Given the description of an element on the screen output the (x, y) to click on. 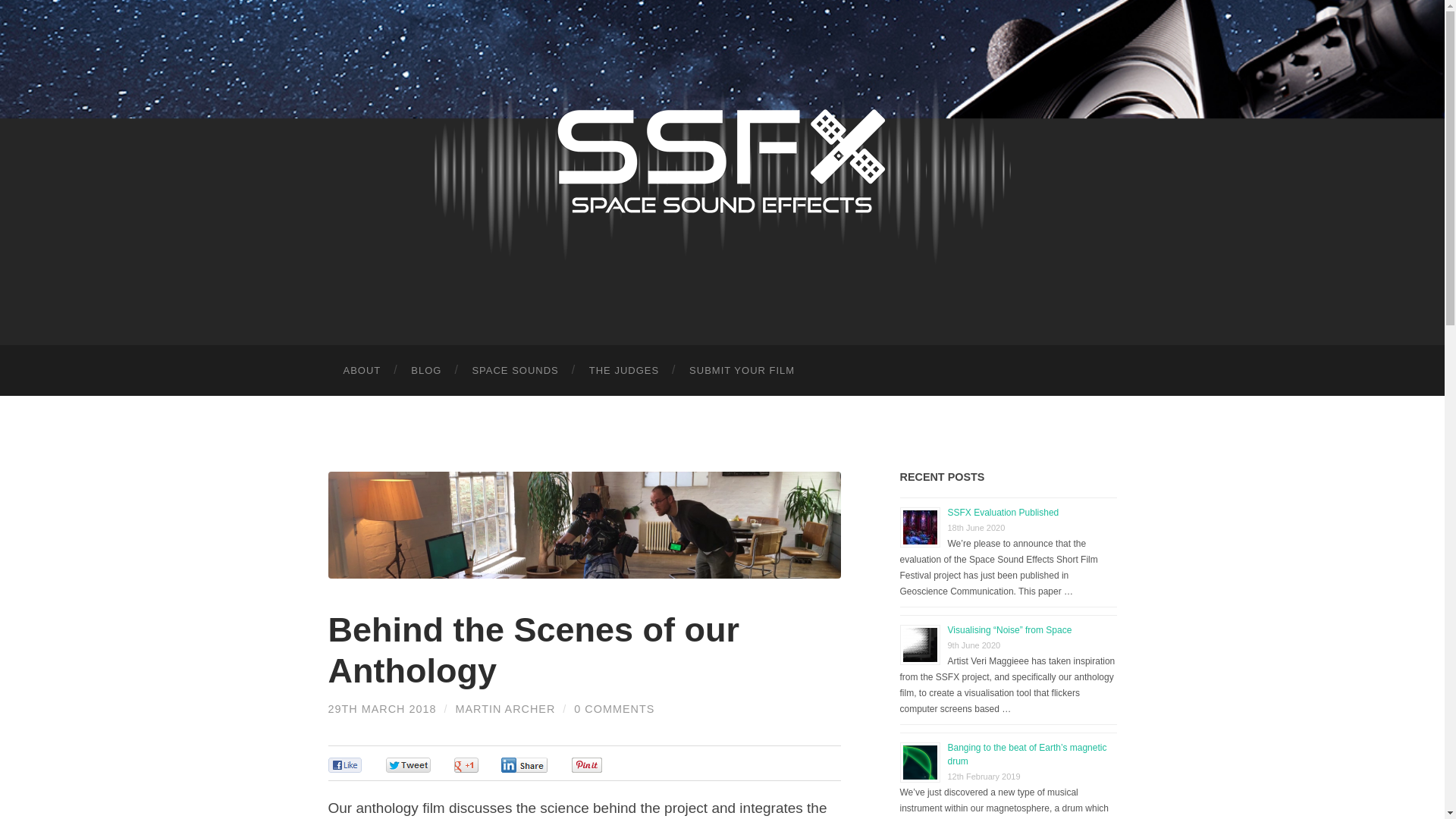
ABOUT (361, 369)
SPACE SOUNDS (515, 369)
Be the first one to tweet this article! (423, 764)
29TH MARCH 2018 (381, 708)
MARTIN ARCHER (504, 708)
0 COMMENTS (613, 708)
BLOG (426, 369)
Behind the Scenes of our Anthology (533, 650)
SSFX Evaluation Published (1003, 511)
SUBMIT YOUR FILM (741, 369)
